Given the description of an element on the screen output the (x, y) to click on. 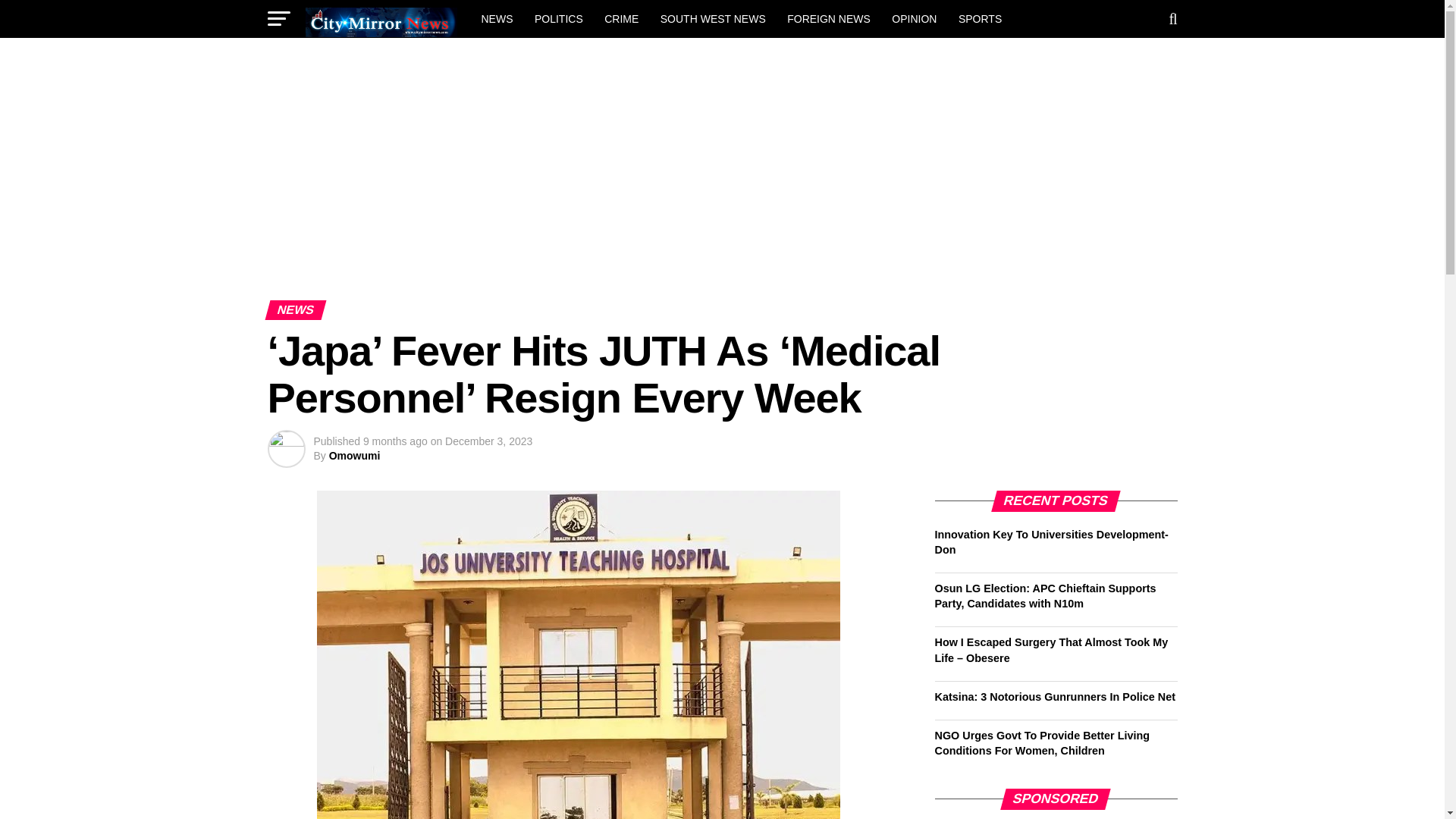
POLITICS (558, 18)
FOREIGN NEWS (828, 18)
Katsina: 3 Notorious Gunrunners In Police Net (1054, 696)
Omowumi (354, 455)
Posts by Omowumi (354, 455)
Innovation Key To Universities Development- Don (1050, 542)
NEWS (496, 18)
OPINION (913, 18)
SPORTS (979, 18)
